Given the description of an element on the screen output the (x, y) to click on. 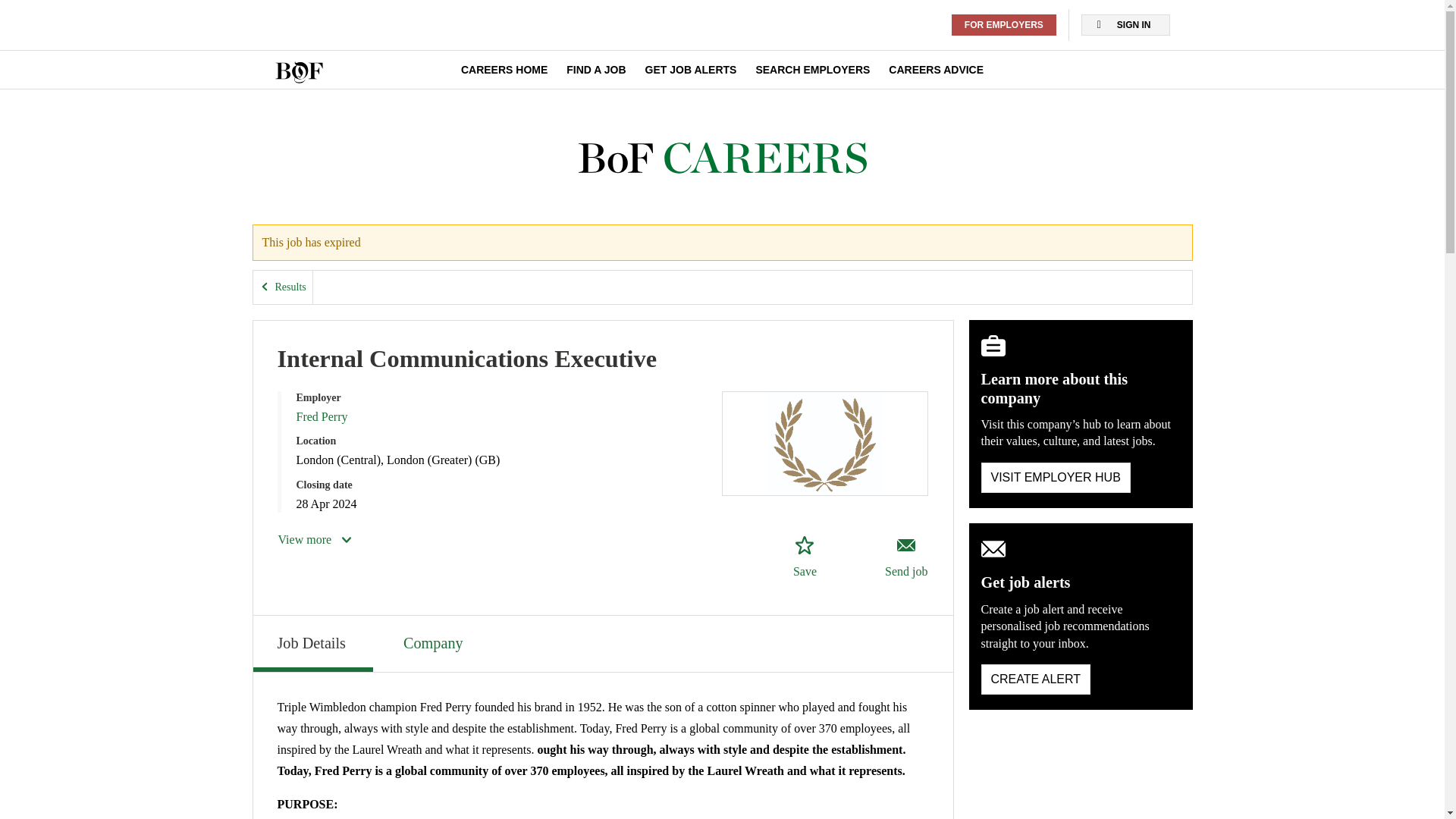
Fred Perry (321, 416)
CAREERS ADVICE (936, 69)
CAREERS HOME (504, 69)
GET JOB ALERTS (690, 69)
SIGN IN (1125, 25)
FIND A JOB (596, 69)
BoF Careers (722, 158)
SEARCH EMPLOYERS (812, 69)
Results (283, 287)
Job Details (312, 643)
View more (315, 539)
Company (434, 641)
FOR EMPLOYERS (1004, 25)
VISIT EMPLOYER HUB (1056, 477)
CREATE ALERT (1035, 679)
